Given the description of an element on the screen output the (x, y) to click on. 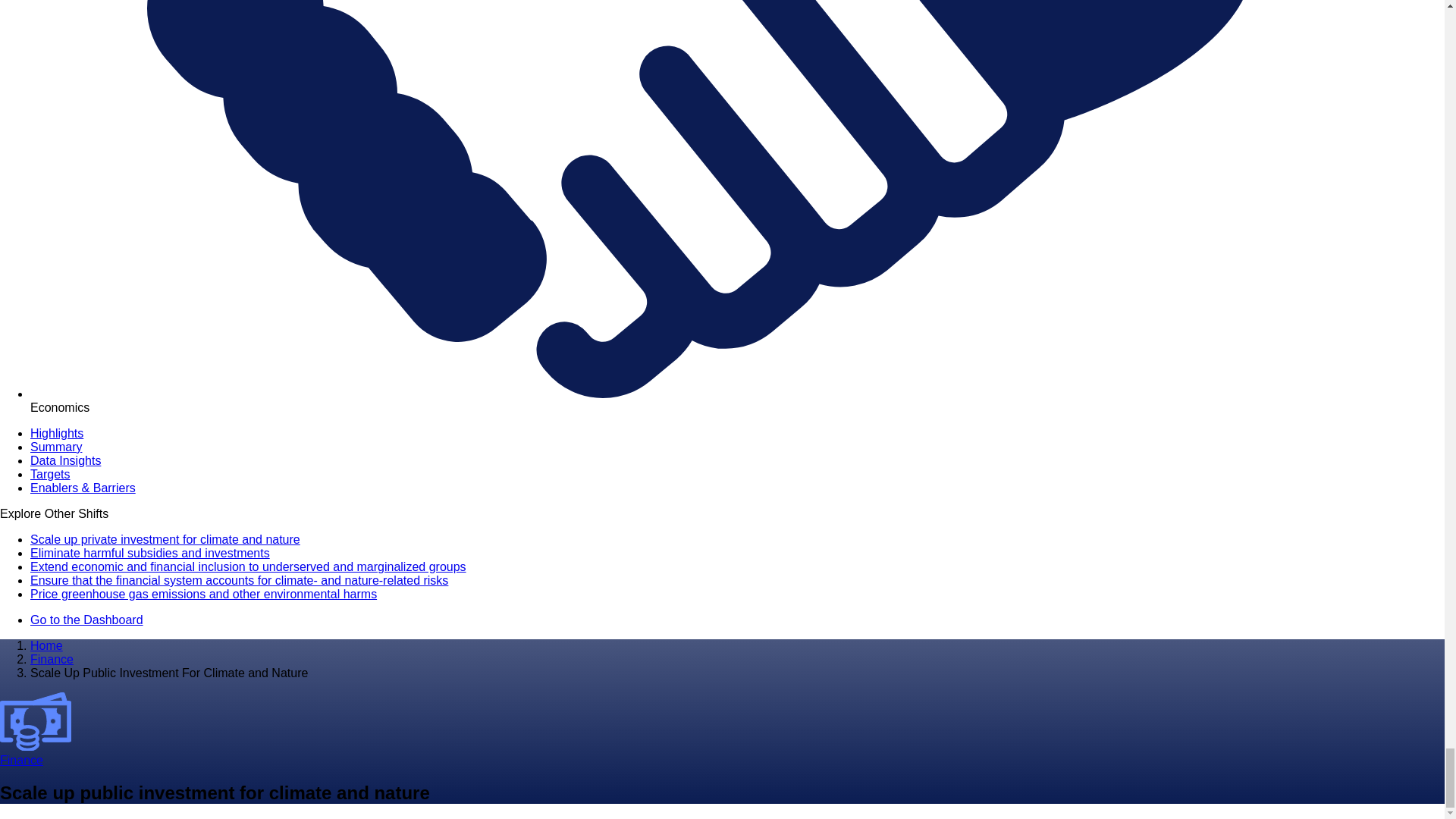
Targets (49, 473)
Summary (55, 446)
Data Insights (65, 460)
Highlights (56, 432)
